Given the description of an element on the screen output the (x, y) to click on. 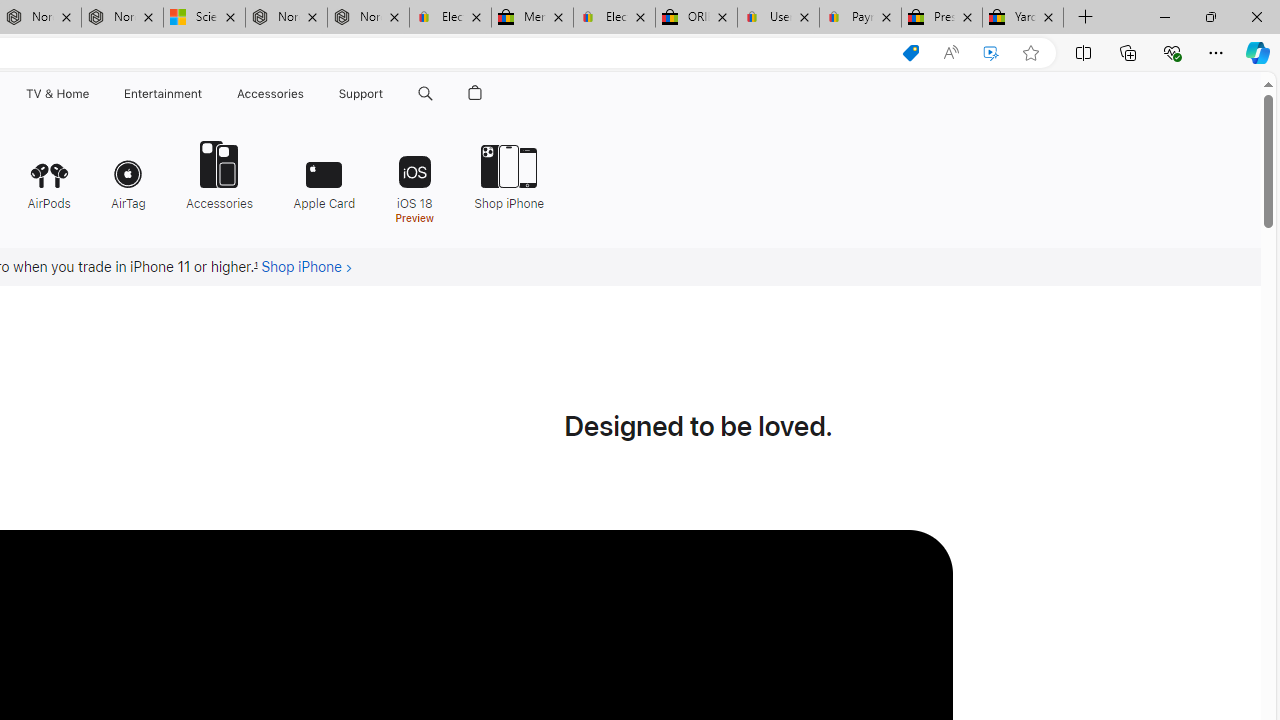
Apple Card (324, 173)
Payments Terms of Use | eBay.com (860, 17)
Support (361, 93)
Shop iPhone (501, 173)
Class: globalnav-submenu-trigger-item (387, 93)
Support (361, 93)
Accessories (219, 173)
